Given the description of an element on the screen output the (x, y) to click on. 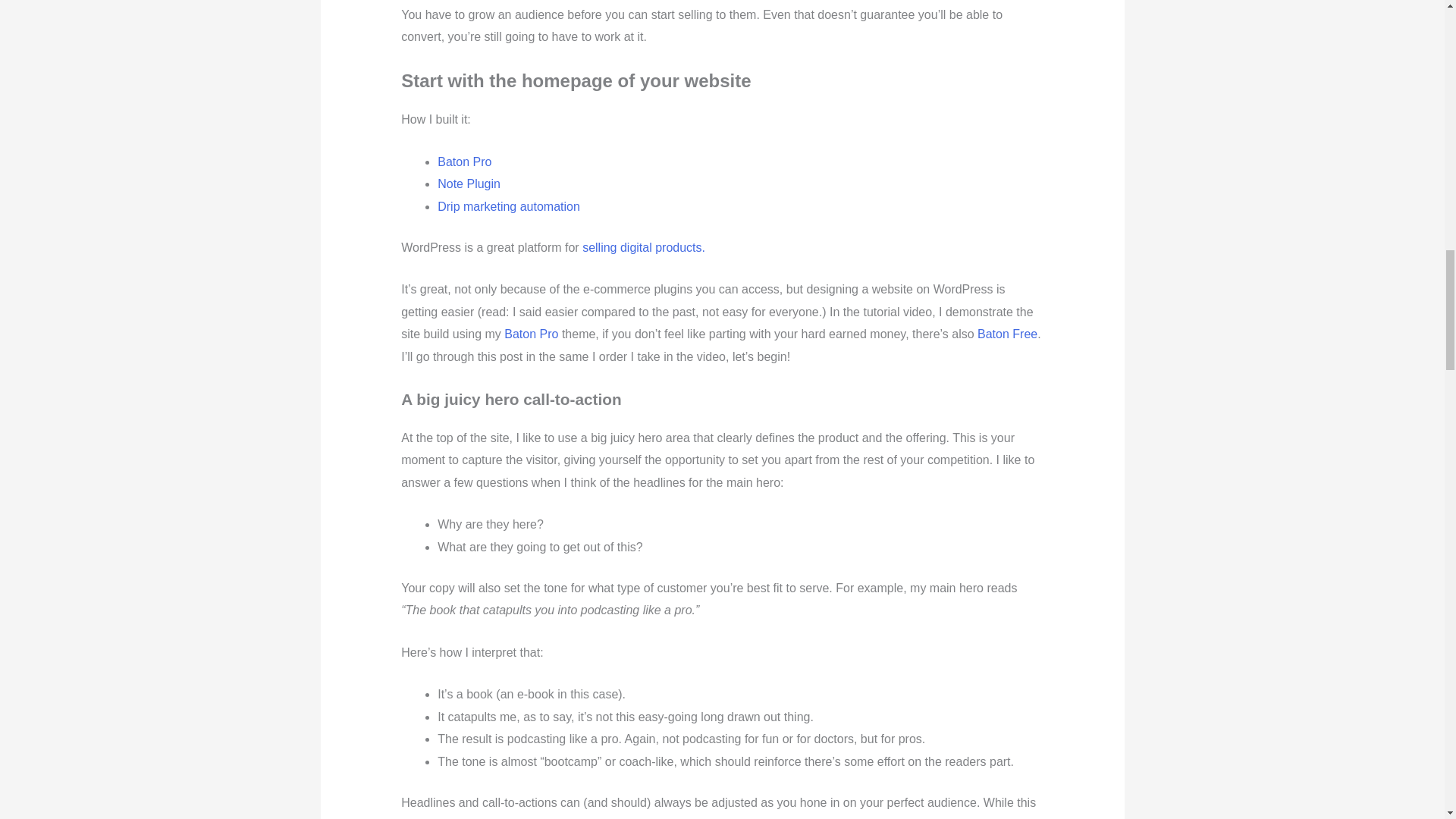
selling digital products. (643, 246)
Baton Pro (465, 161)
Note Plugin (469, 183)
Drip marketing automation (508, 205)
Baton Pro (530, 333)
Baton Free (1006, 333)
